Given the description of an element on the screen output the (x, y) to click on. 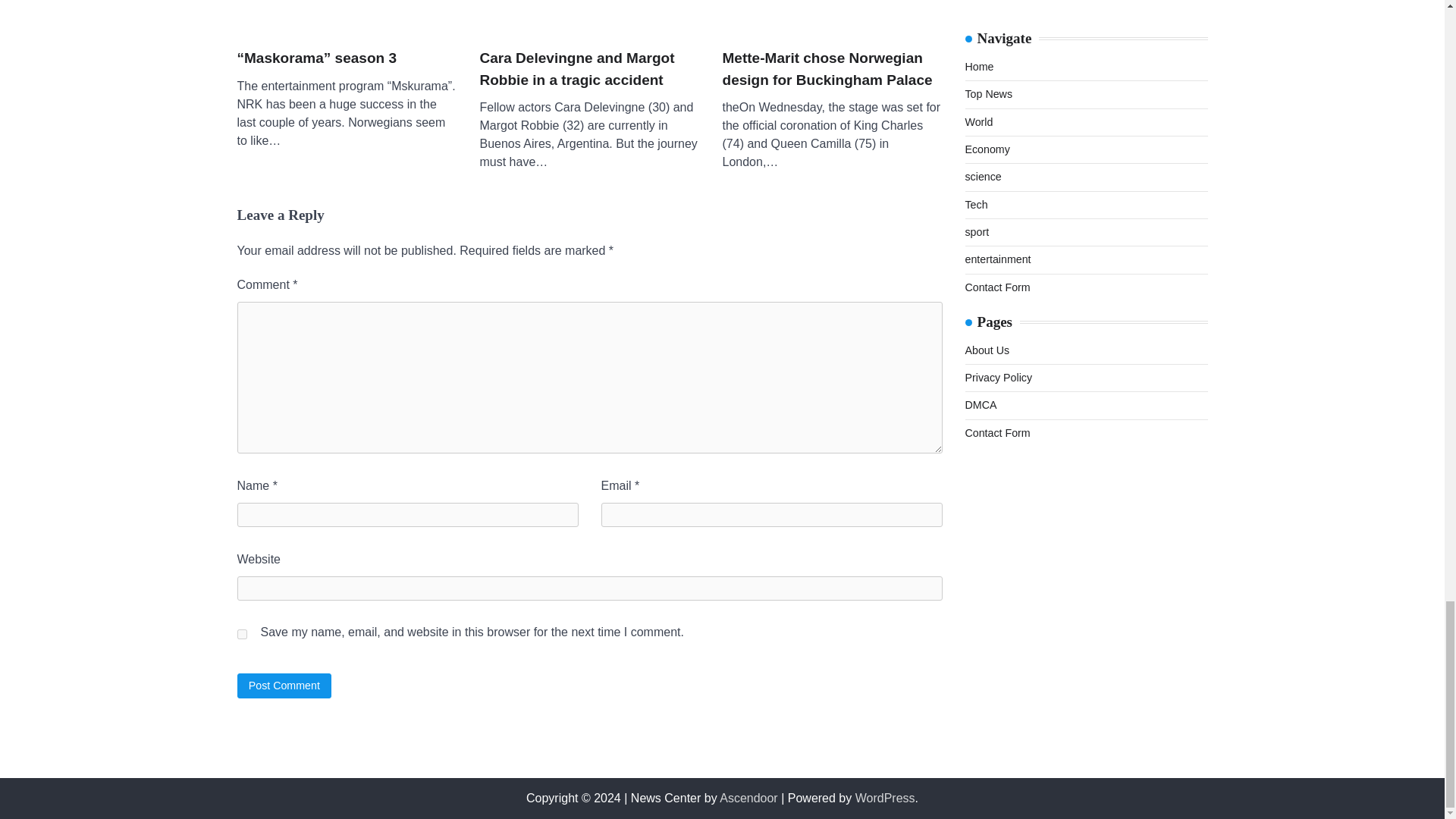
Mette-Marit chose Norwegian design for Buckingham Palace (832, 16)
Cara Delevingne and Margot Robbie in a tragic accident (588, 16)
yes (240, 634)
Post Comment (283, 685)
Cara Delevingne and Margot Robbie in a tragic accident (588, 68)
Post Comment (283, 685)
Mette-Marit chose Norwegian design for Buckingham Palace (832, 68)
